Given the description of an element on the screen output the (x, y) to click on. 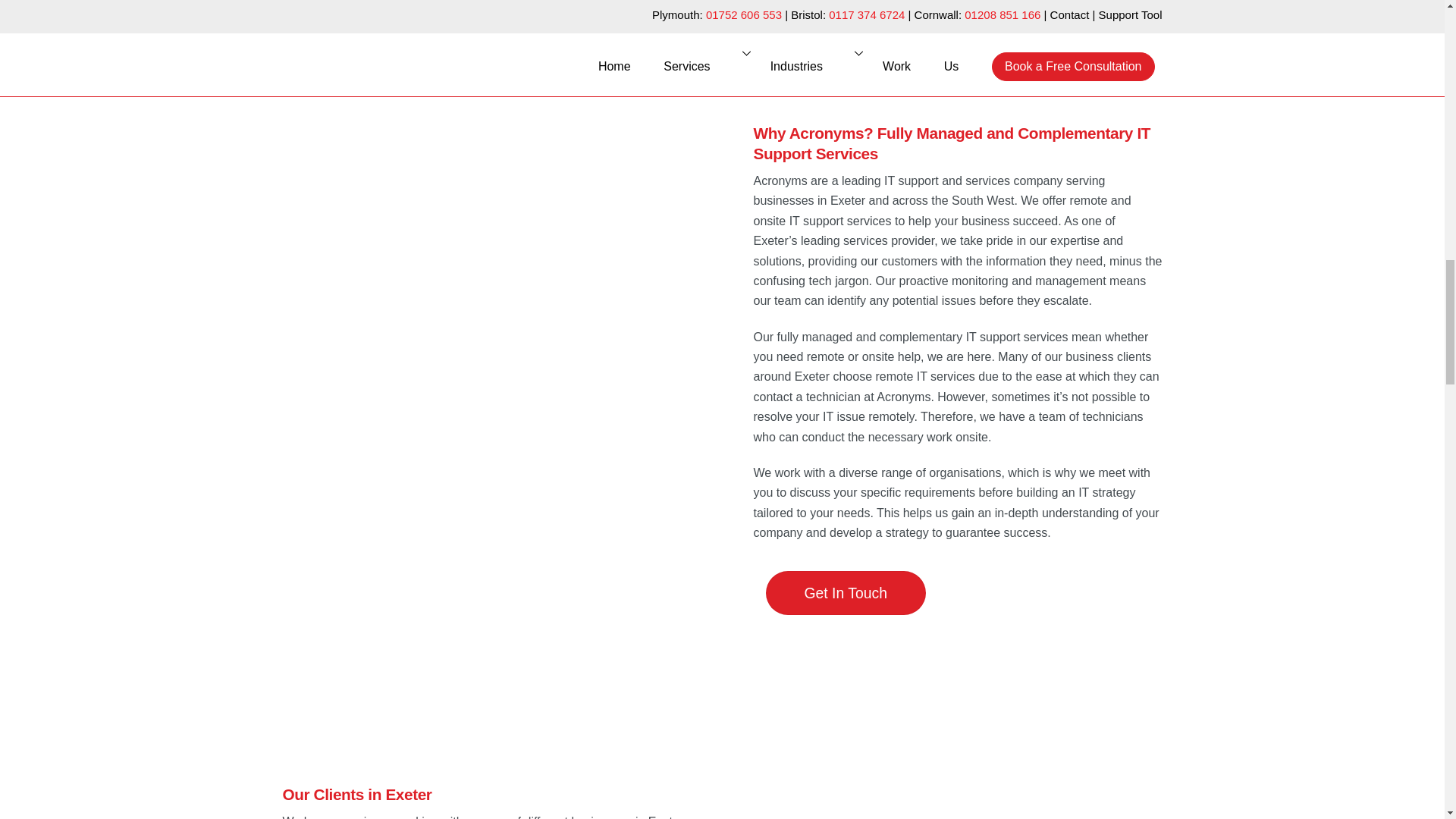
IT Services Exeter (486, 381)
Get In Touch (845, 592)
Taking A Proactive Approach (408, 4)
